Given the description of an element on the screen output the (x, y) to click on. 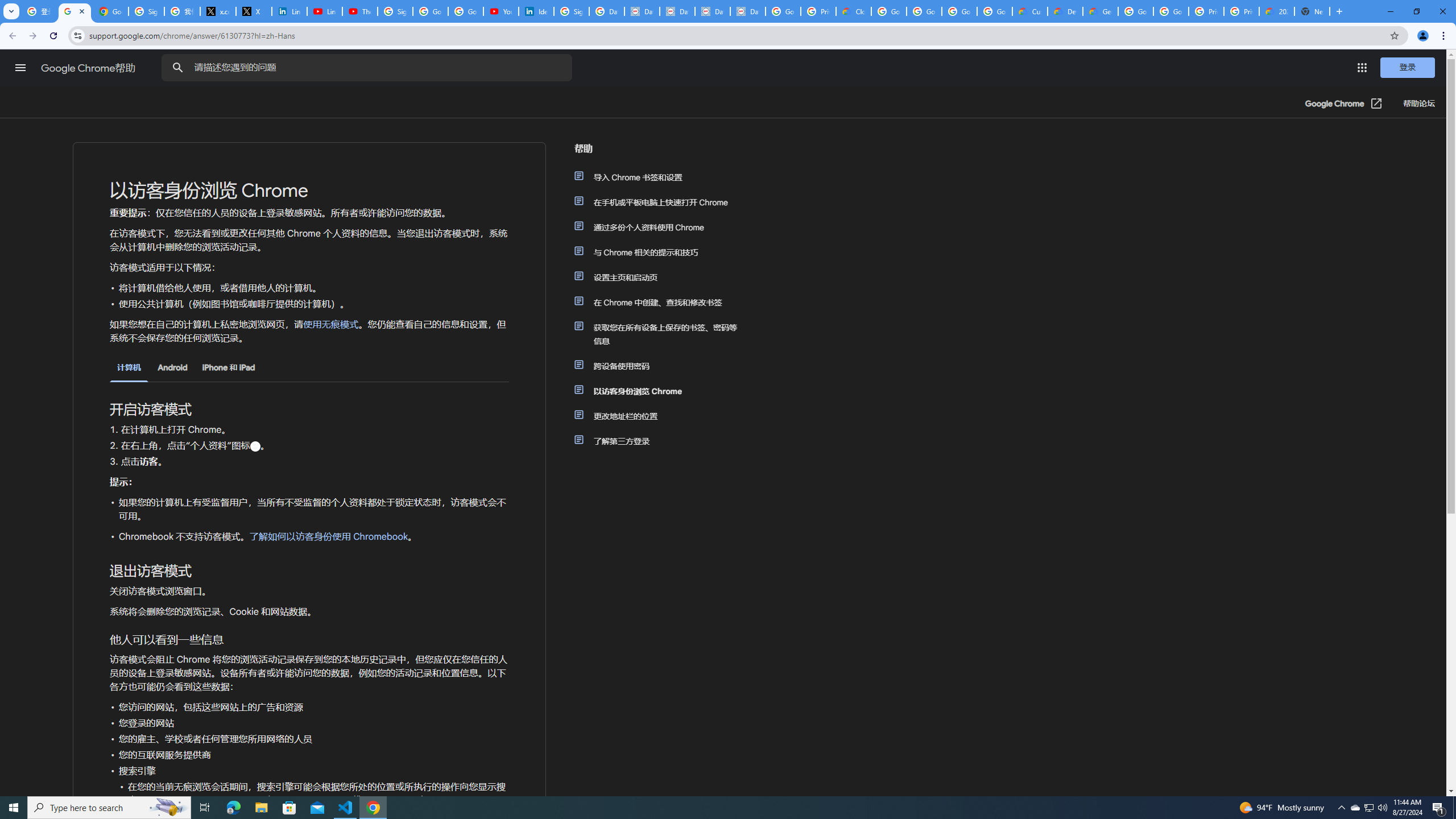
Gemini for Business and Developers | Google Cloud (1099, 11)
New Tab (1312, 11)
